Given the description of an element on the screen output the (x, y) to click on. 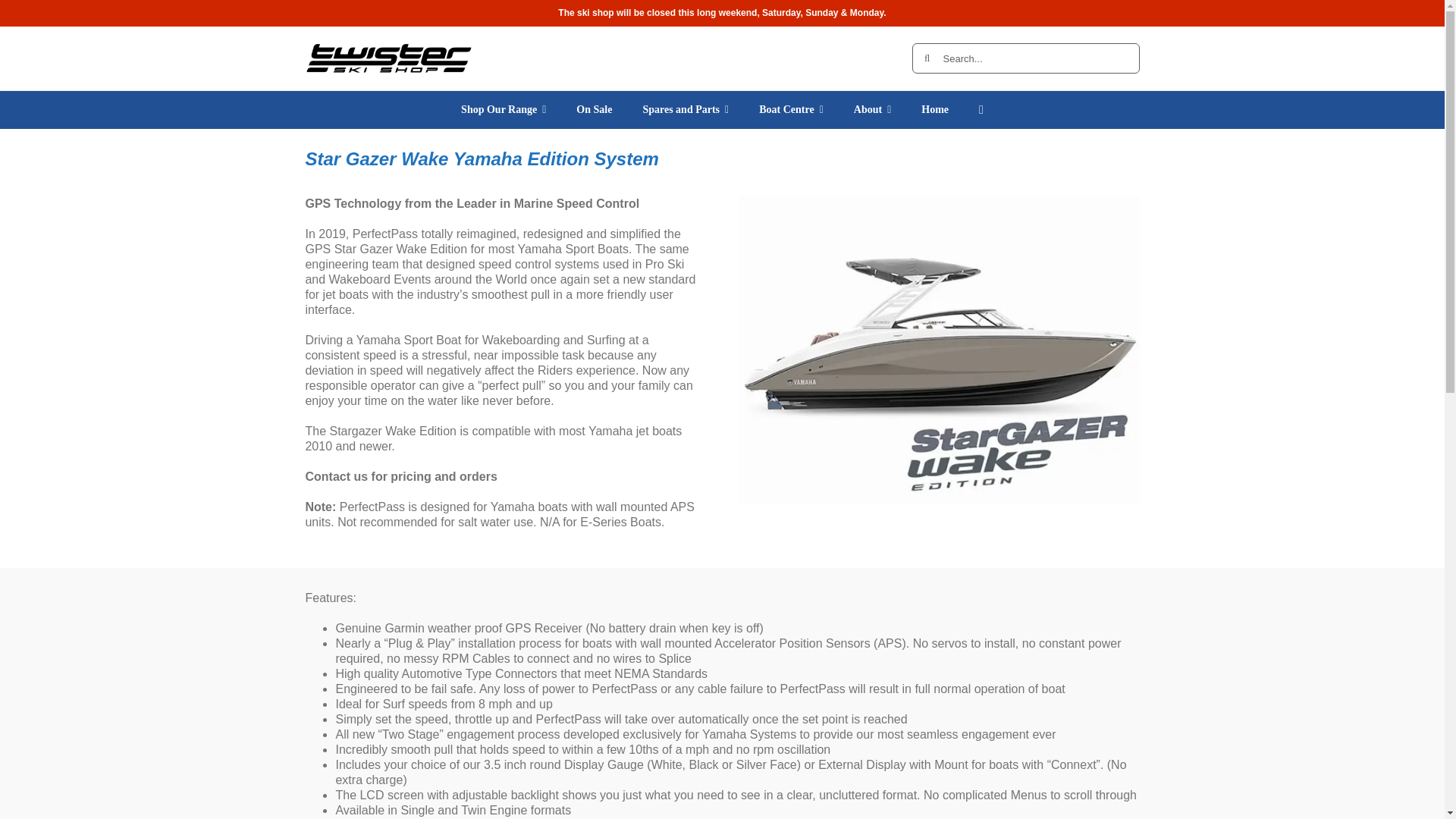
On Sale (593, 109)
Spares and Parts (685, 109)
Boat Centre (791, 109)
Shop Our Range (502, 109)
img-pp-stargazer-wake (938, 350)
